Given the description of an element on the screen output the (x, y) to click on. 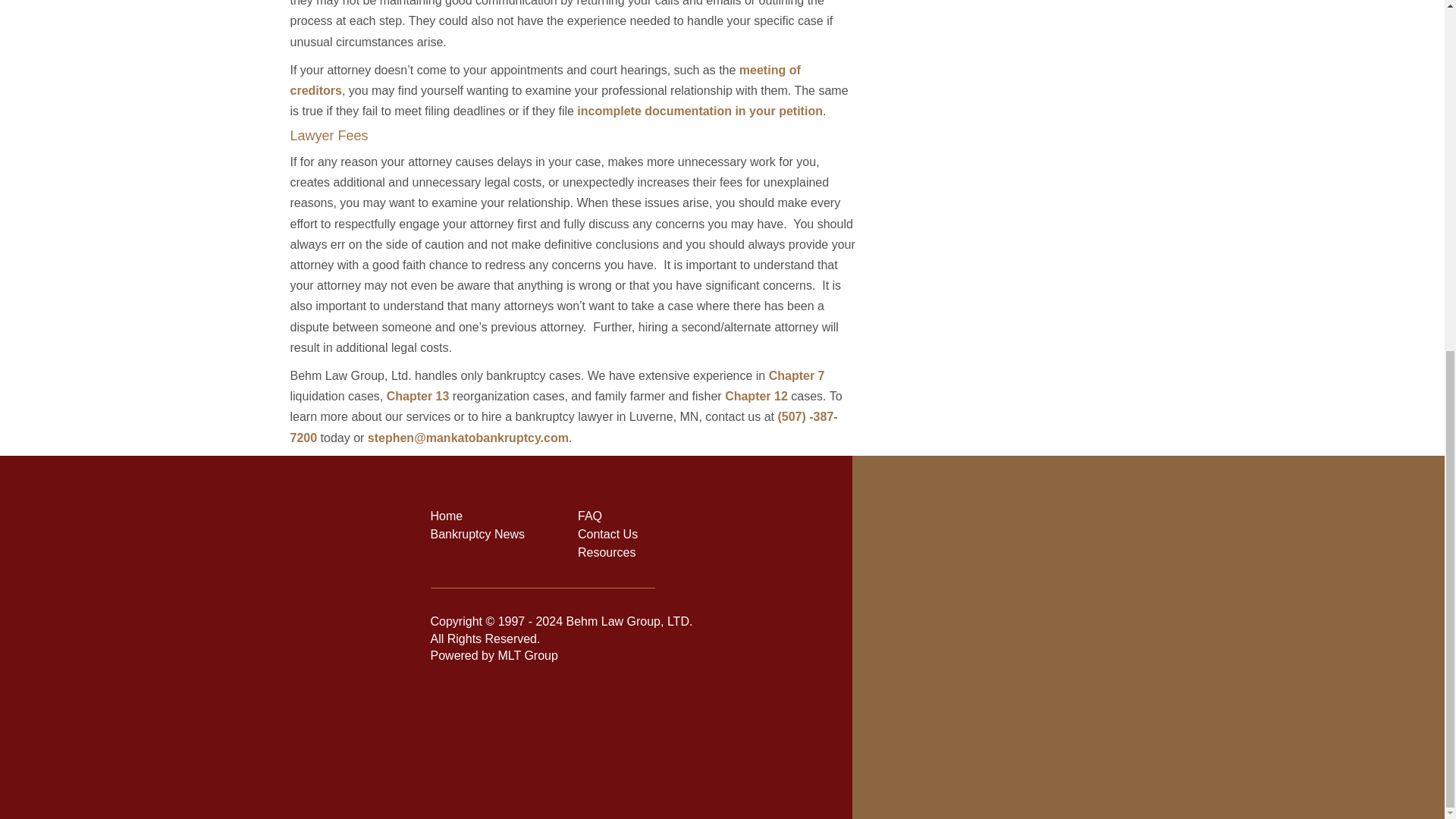
meeting of creditors (544, 80)
incomplete documentation in your petition (699, 110)
Chapter 7 (796, 375)
Chapter 12 (756, 395)
Chapter 13 (418, 395)
